Given the description of an element on the screen output the (x, y) to click on. 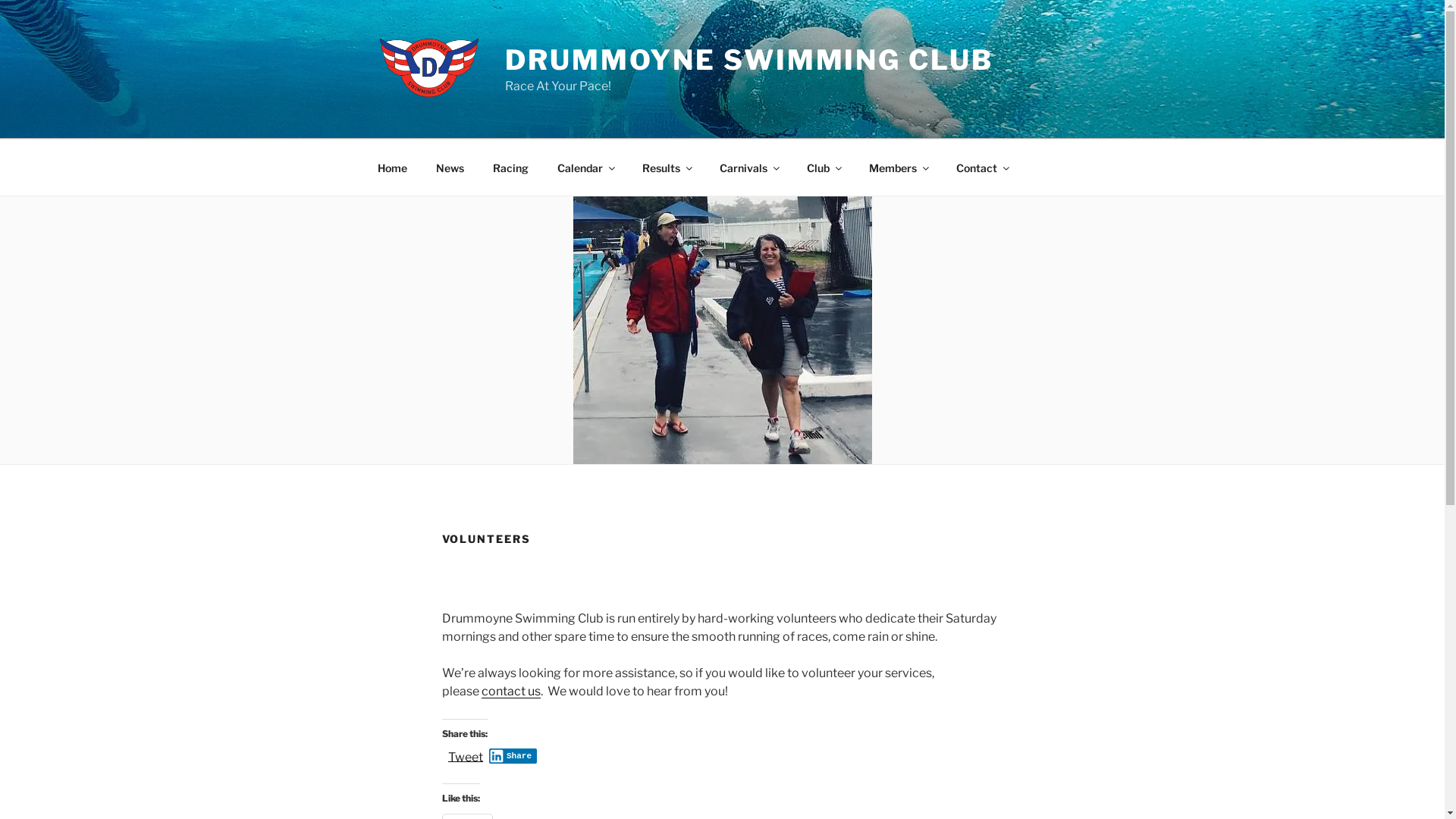
Carnivals Element type: text (748, 166)
Members Element type: text (897, 166)
DRUMMOYNE SWIMMING CLUB Element type: text (748, 59)
Share Element type: text (512, 755)
Contact Element type: text (982, 166)
contact us Element type: text (509, 691)
Club Element type: text (823, 166)
Tweet Element type: text (464, 755)
Results Element type: text (666, 166)
Calendar Element type: text (585, 166)
News Element type: text (450, 166)
Home Element type: text (392, 166)
Racing Element type: text (510, 166)
